Given the description of an element on the screen output the (x, y) to click on. 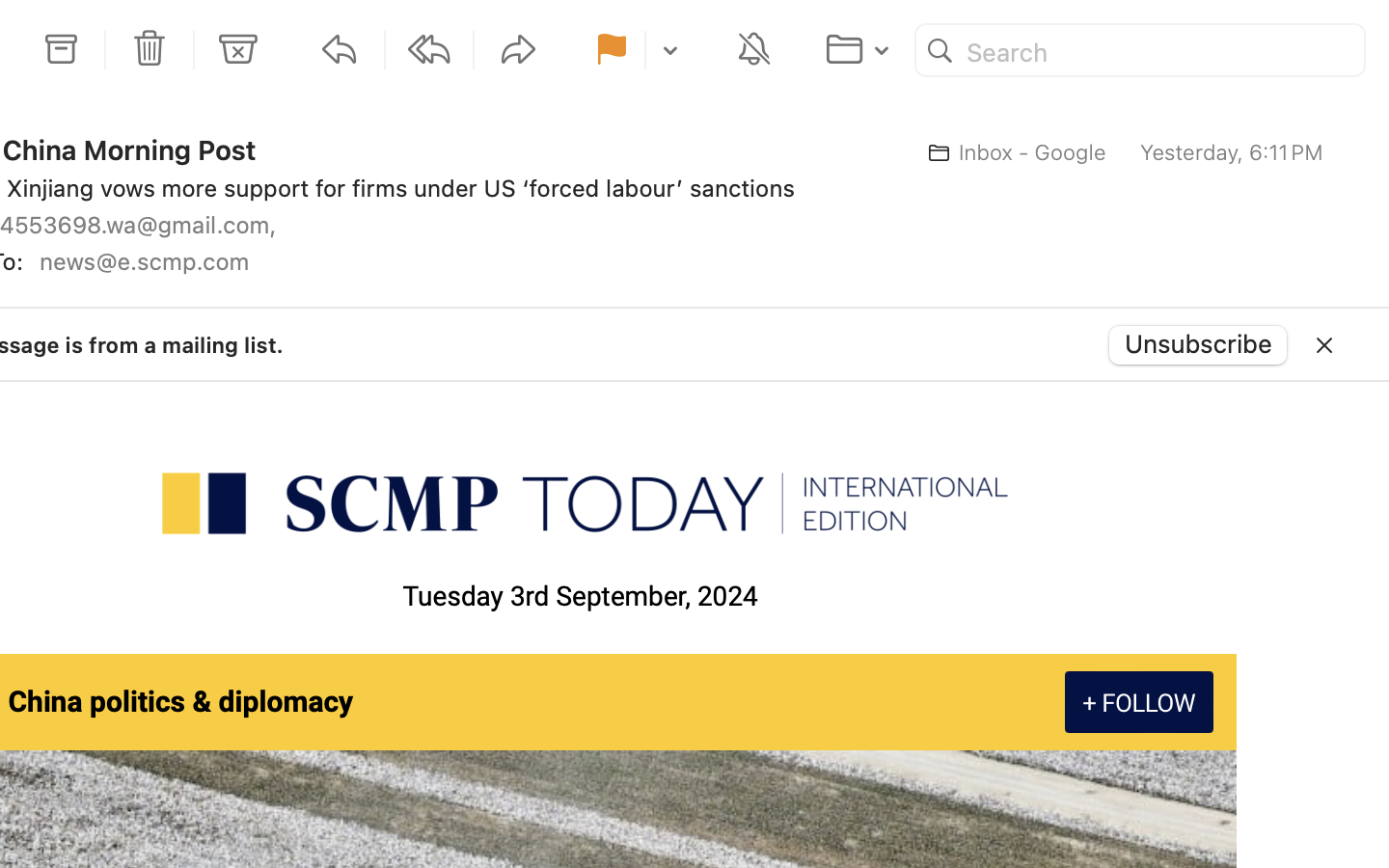
Yesterday, 6:11 PM Element type: AXStaticText (1231, 151)
